Given the description of an element on the screen output the (x, y) to click on. 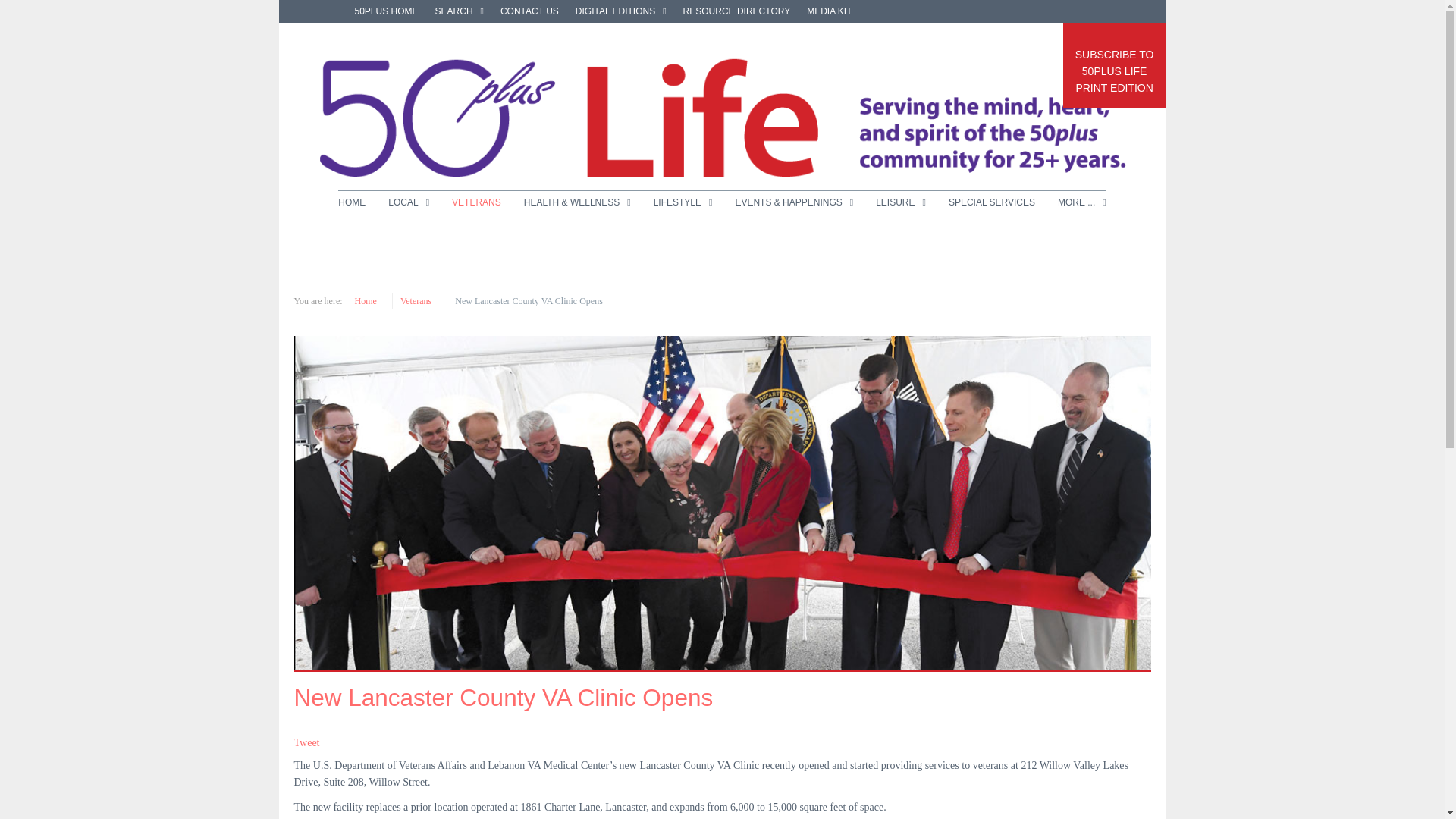
LOCAL (409, 201)
HOME (357, 201)
MEDIA KIT (828, 11)
LEISURE (900, 201)
RESOURCE DIRECTORY (1114, 65)
50PLUS HOME (736, 11)
DIGITAL EDITIONS (387, 11)
SEARCH (620, 11)
CONTACT US (459, 11)
